Given the description of an element on the screen output the (x, y) to click on. 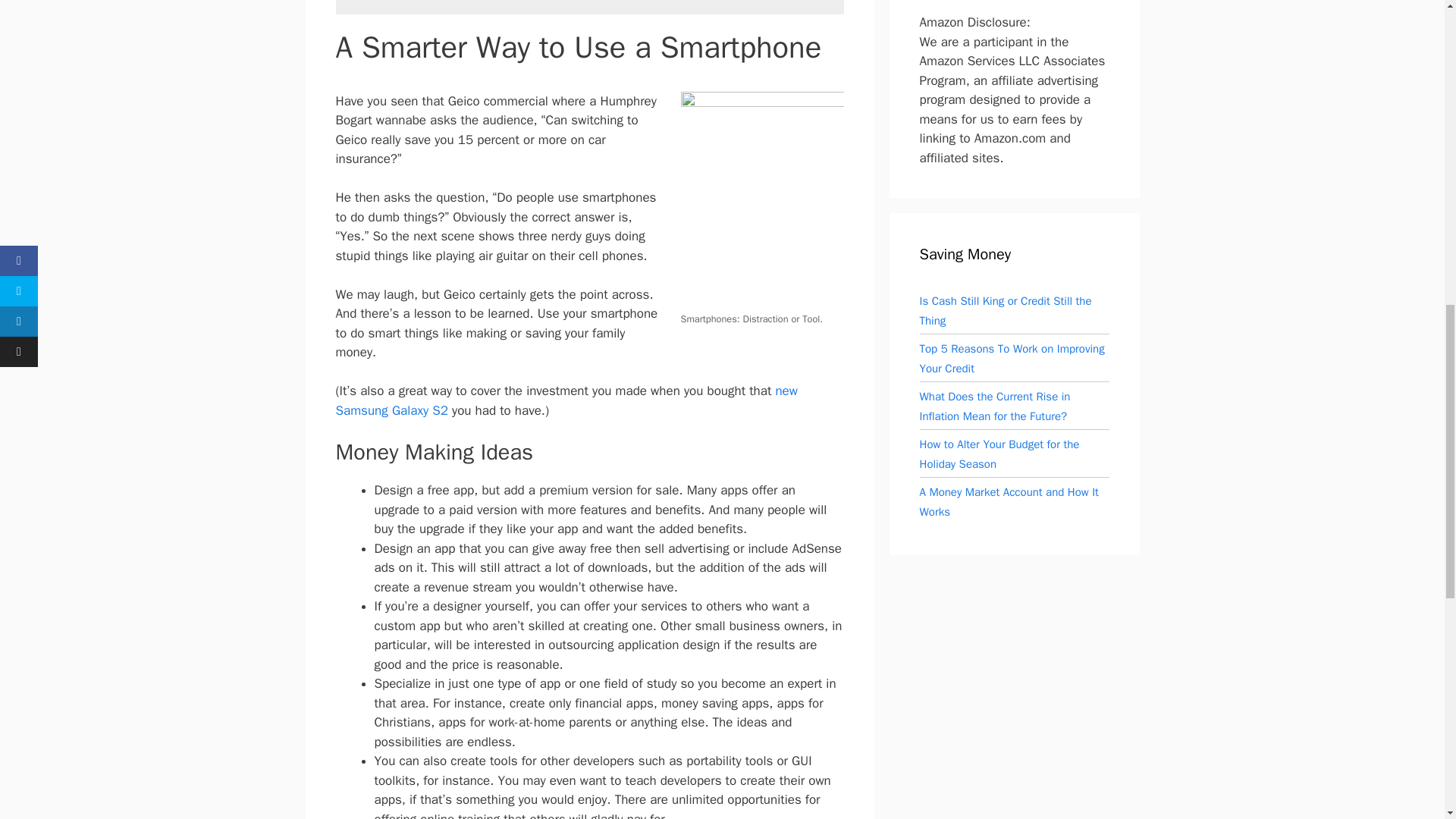
Top 5 Reasons To Work on Improving Your Credit (1010, 358)
Permanent Link to A Money Market Account and How It Works (1007, 501)
How to Alter Your Budget for the Holiday Season (998, 453)
A Money Market Account and How It Works (1007, 501)
Learn more (769, 0)
new Samsung Galaxy S2 (565, 400)
What Does the Current Rise in Inflation Mean for the Future? (994, 406)
Is Cash Still King or Credit Still the Thing (1004, 310)
